Given the description of an element on the screen output the (x, y) to click on. 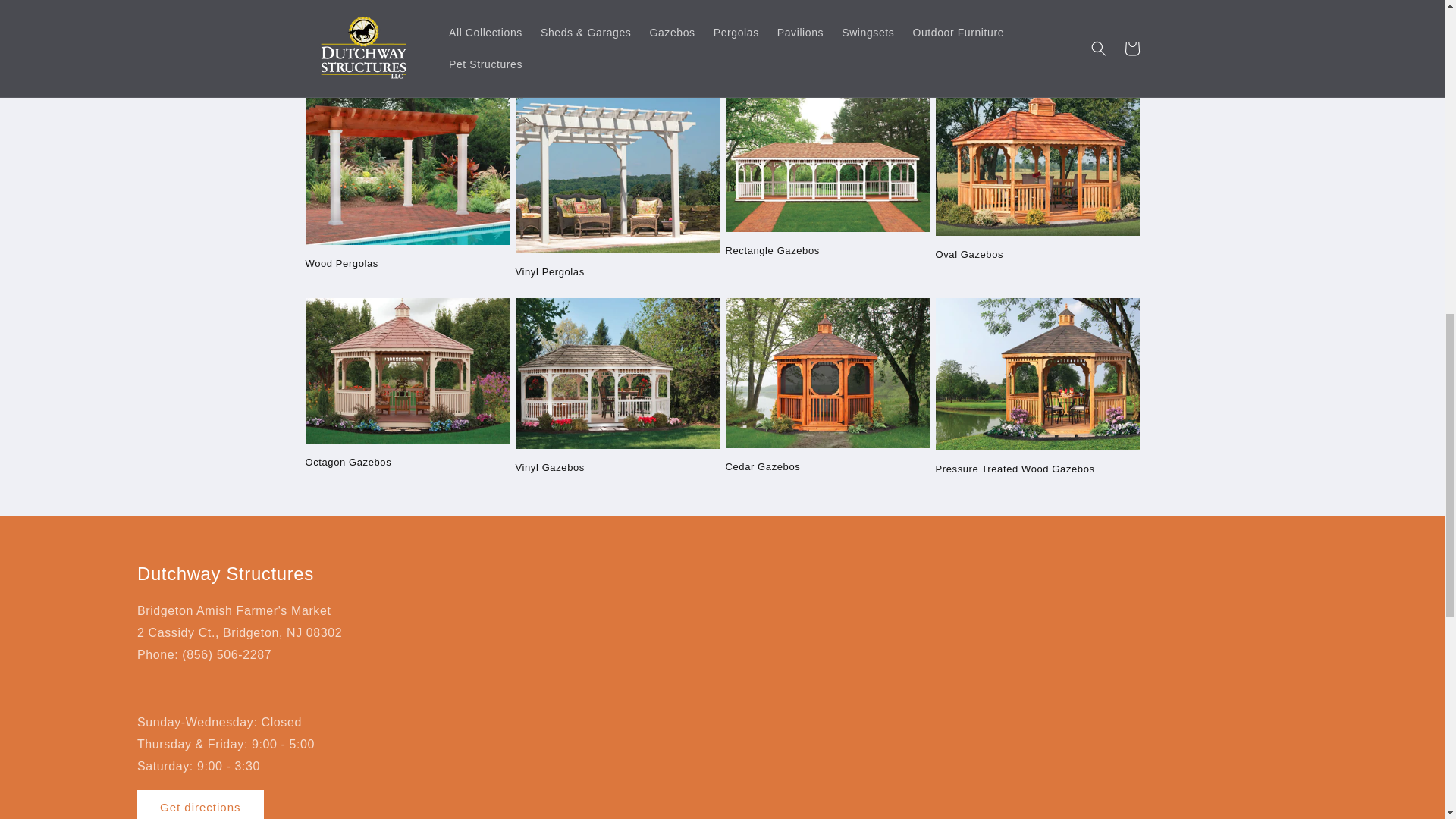
Custom Pavilions (406, 55)
Wood Pavilions (617, 56)
